Given the description of an element on the screen output the (x, y) to click on. 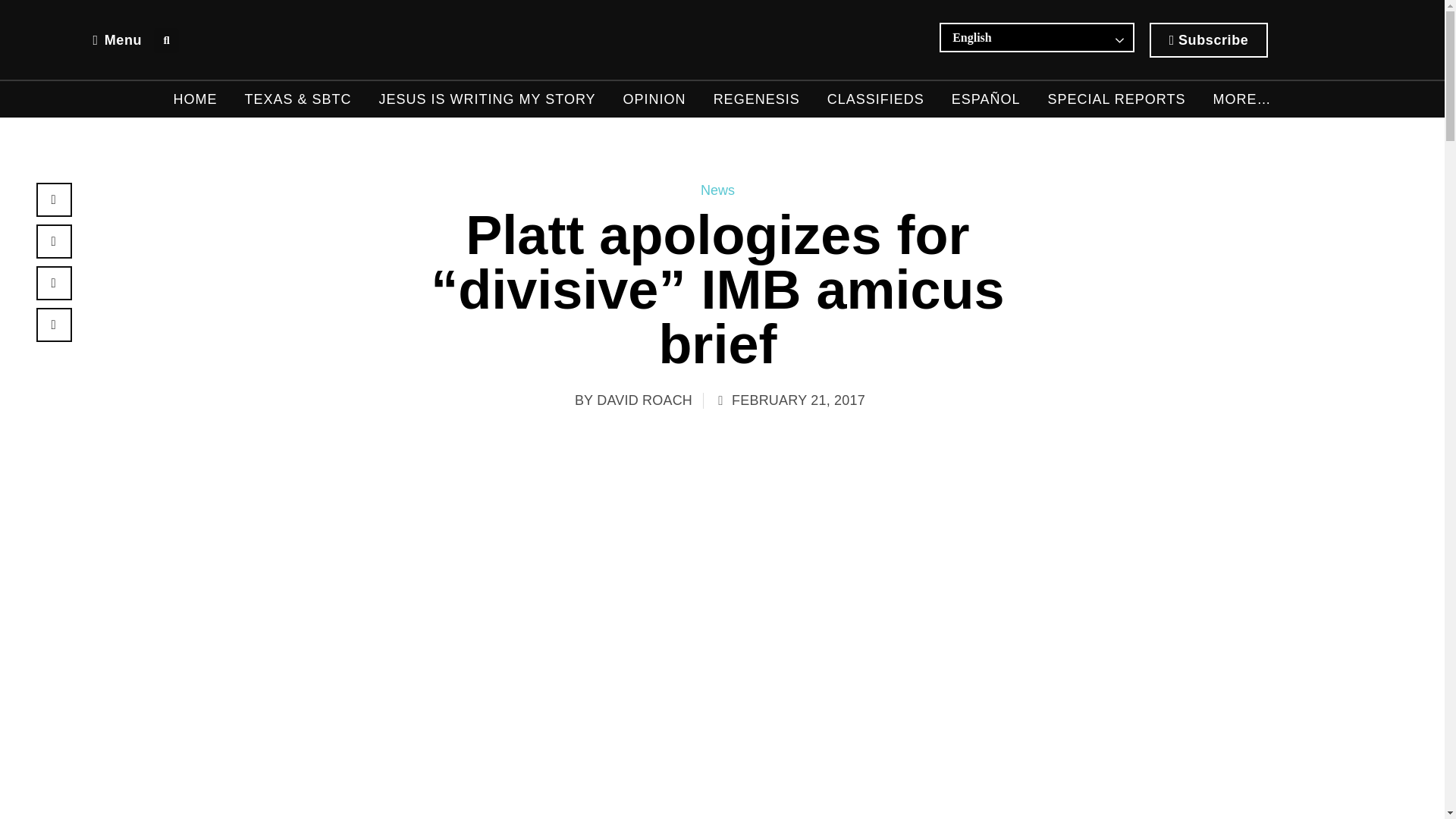
HOME (194, 99)
English (1013, 37)
JESUS IS WRITING MY STORY (486, 99)
CLASSIFIEDS (875, 99)
REGENESIS (756, 99)
Subscribe (1209, 39)
OPINION (654, 99)
SPECIAL REPORTS (1115, 99)
Menu (117, 39)
